Given the description of an element on the screen output the (x, y) to click on. 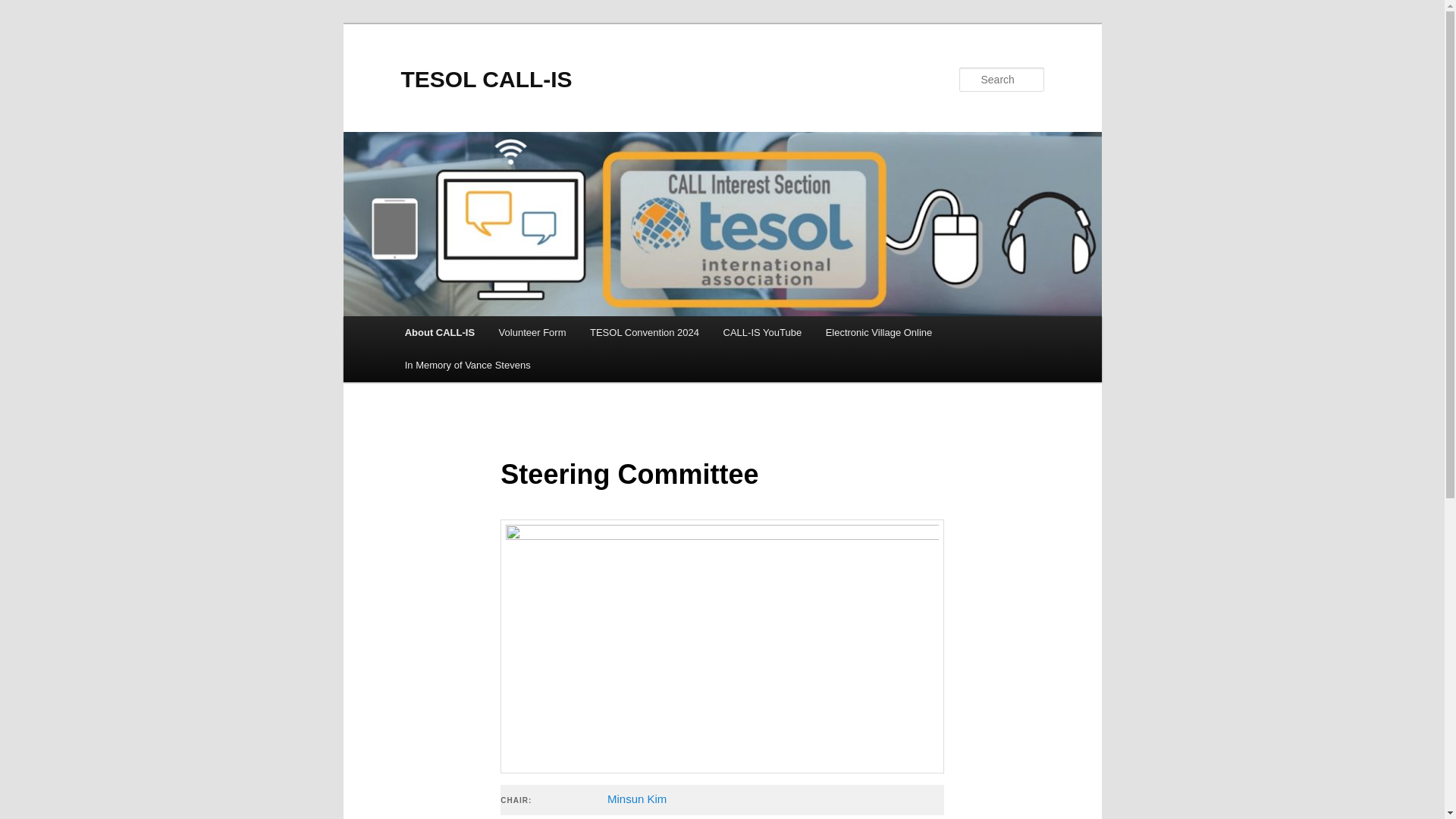
TESOL Convention 2024 (644, 332)
Search (24, 8)
TESOL CALL-IS (486, 78)
Electronic Village Online (878, 332)
In Memory of Vance Stevens (467, 364)
CALL-IS YouTube (762, 332)
Volunteer Form (532, 332)
Minsun Kim (636, 797)
About CALL-IS (439, 332)
